Given the description of an element on the screen output the (x, y) to click on. 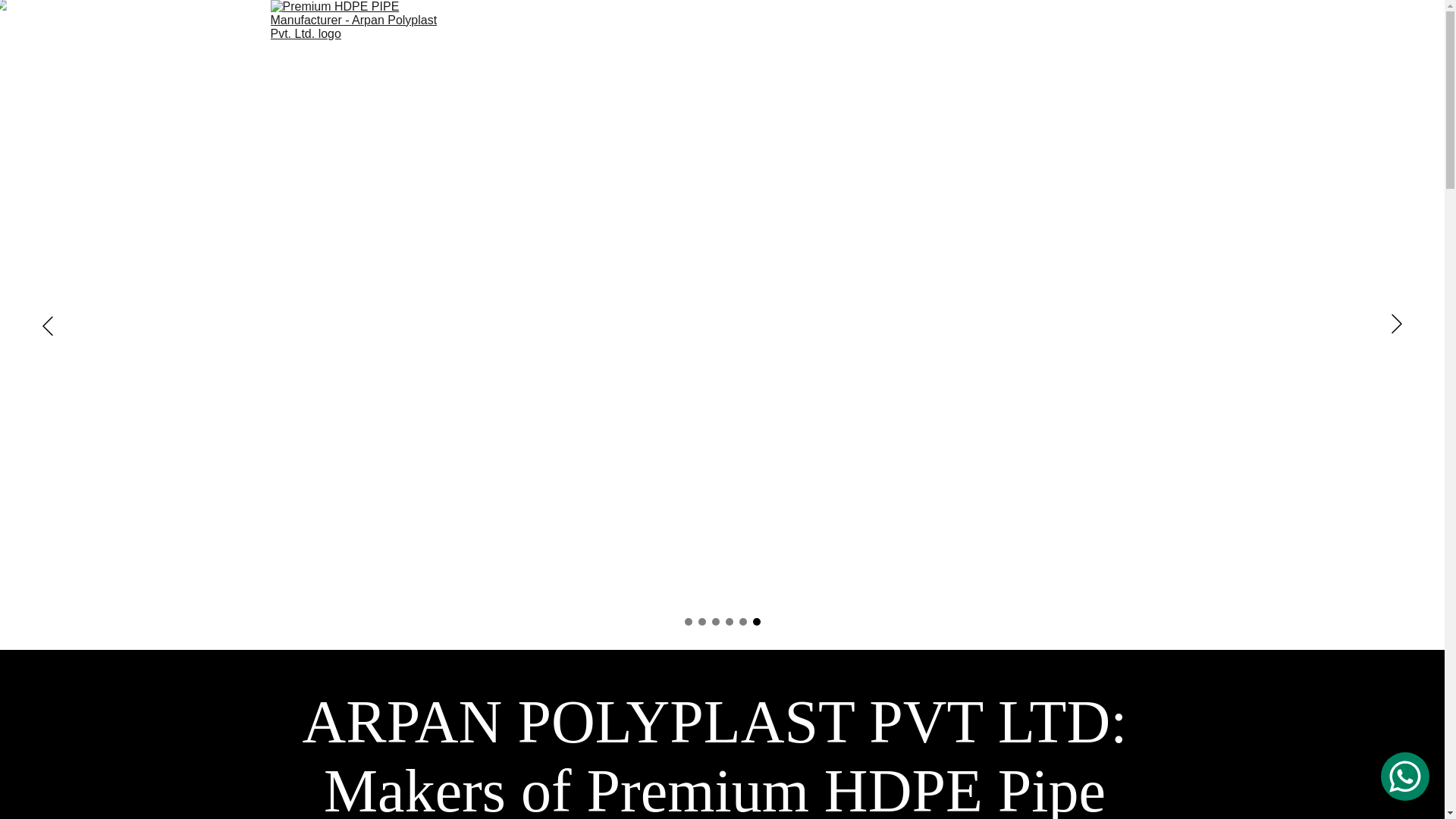
Products (876, 83)
Careers (972, 83)
Contacts (1070, 83)
Blog (1156, 83)
About (688, 83)
Projects (777, 83)
Home (606, 83)
Open WhatsApp (1404, 776)
